Given the description of an element on the screen output the (x, y) to click on. 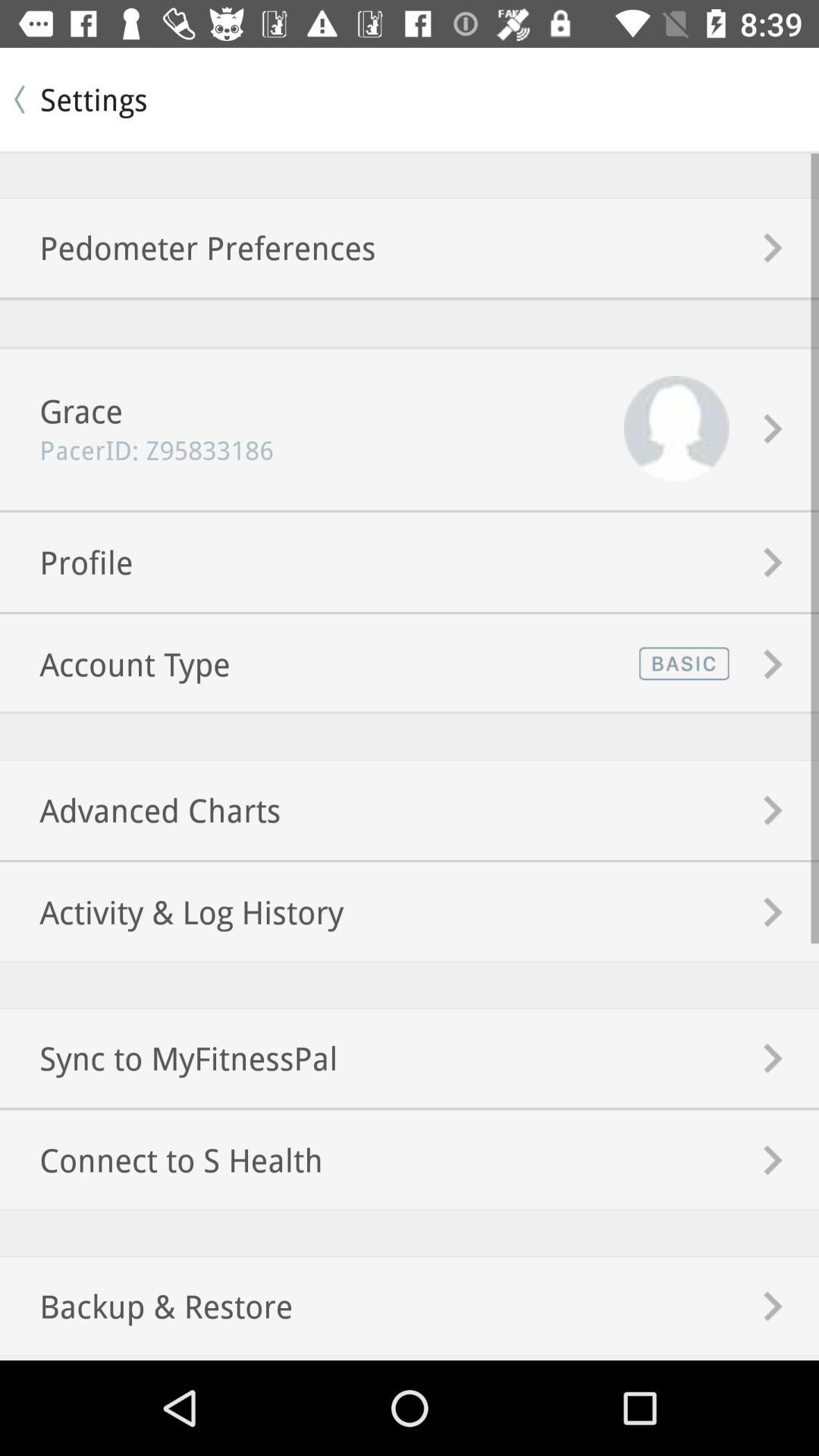
open the grace item (61, 410)
